Given the description of an element on the screen output the (x, y) to click on. 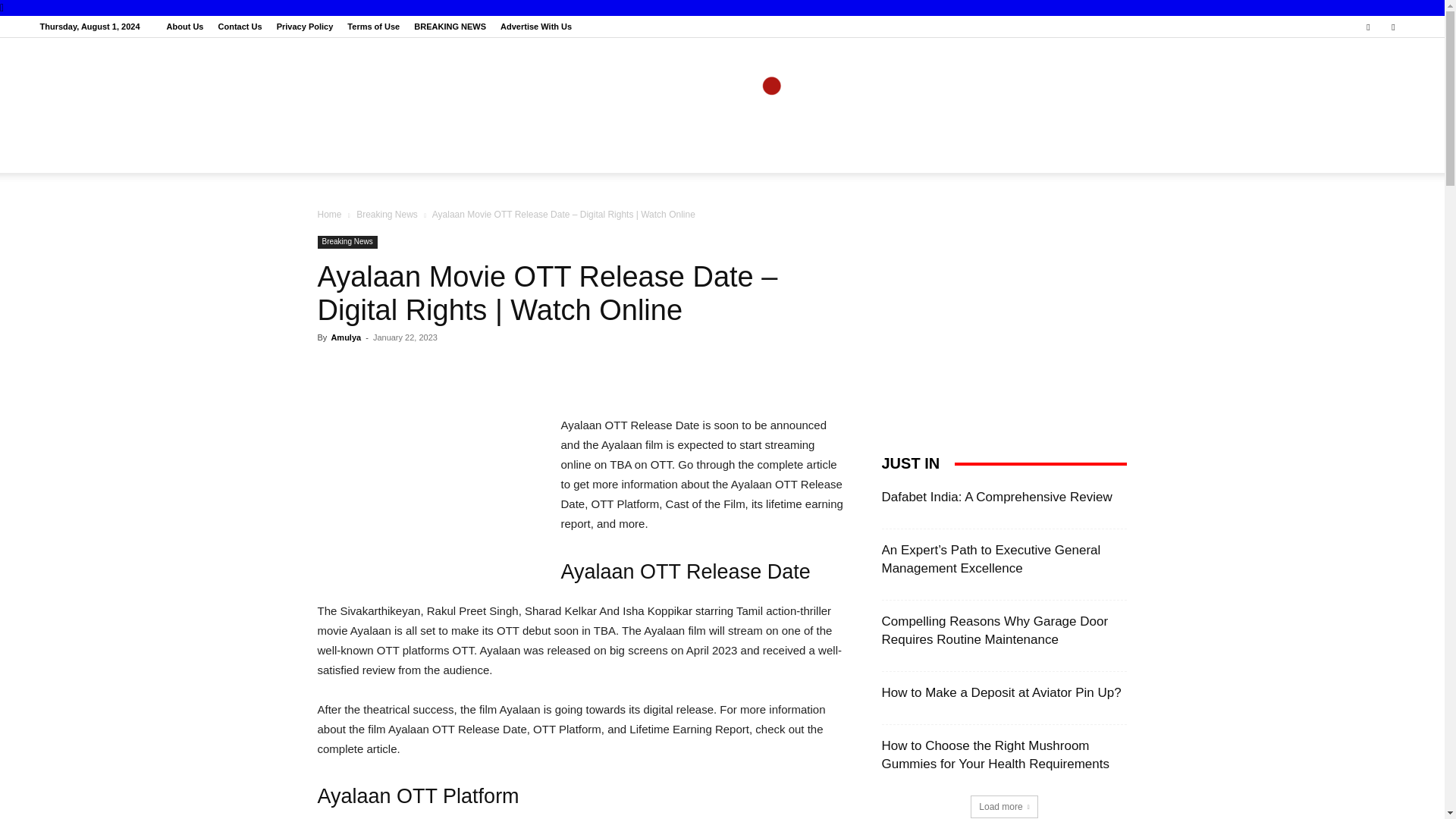
View all posts in Breaking News (386, 214)
Twitter (1393, 25)
Facebook (1367, 25)
